Given the description of an element on the screen output the (x, y) to click on. 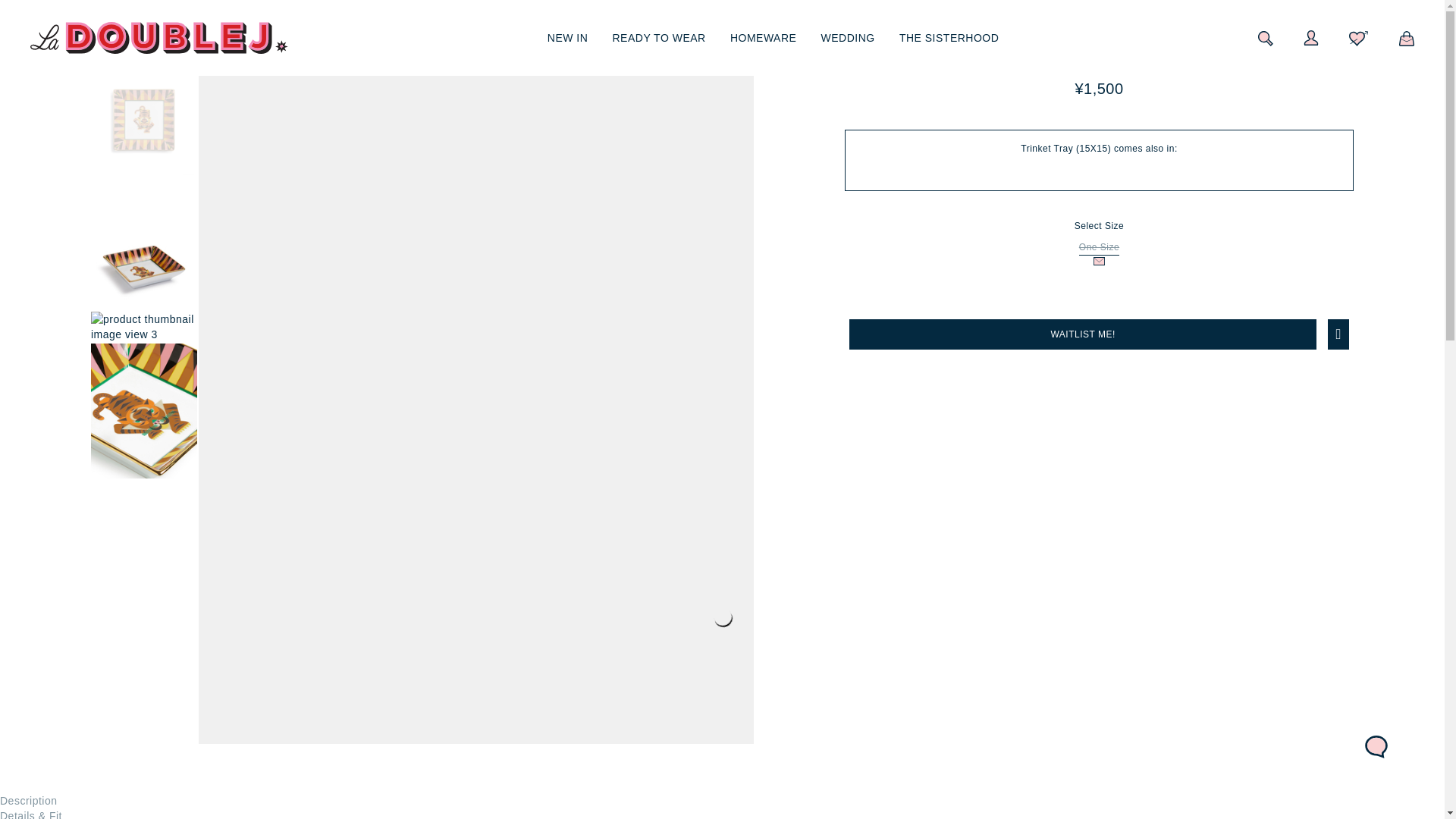
Home (44, 12)
NEW IN (567, 37)
READY TO WEAR (659, 37)
